Given the description of an element on the screen output the (x, y) to click on. 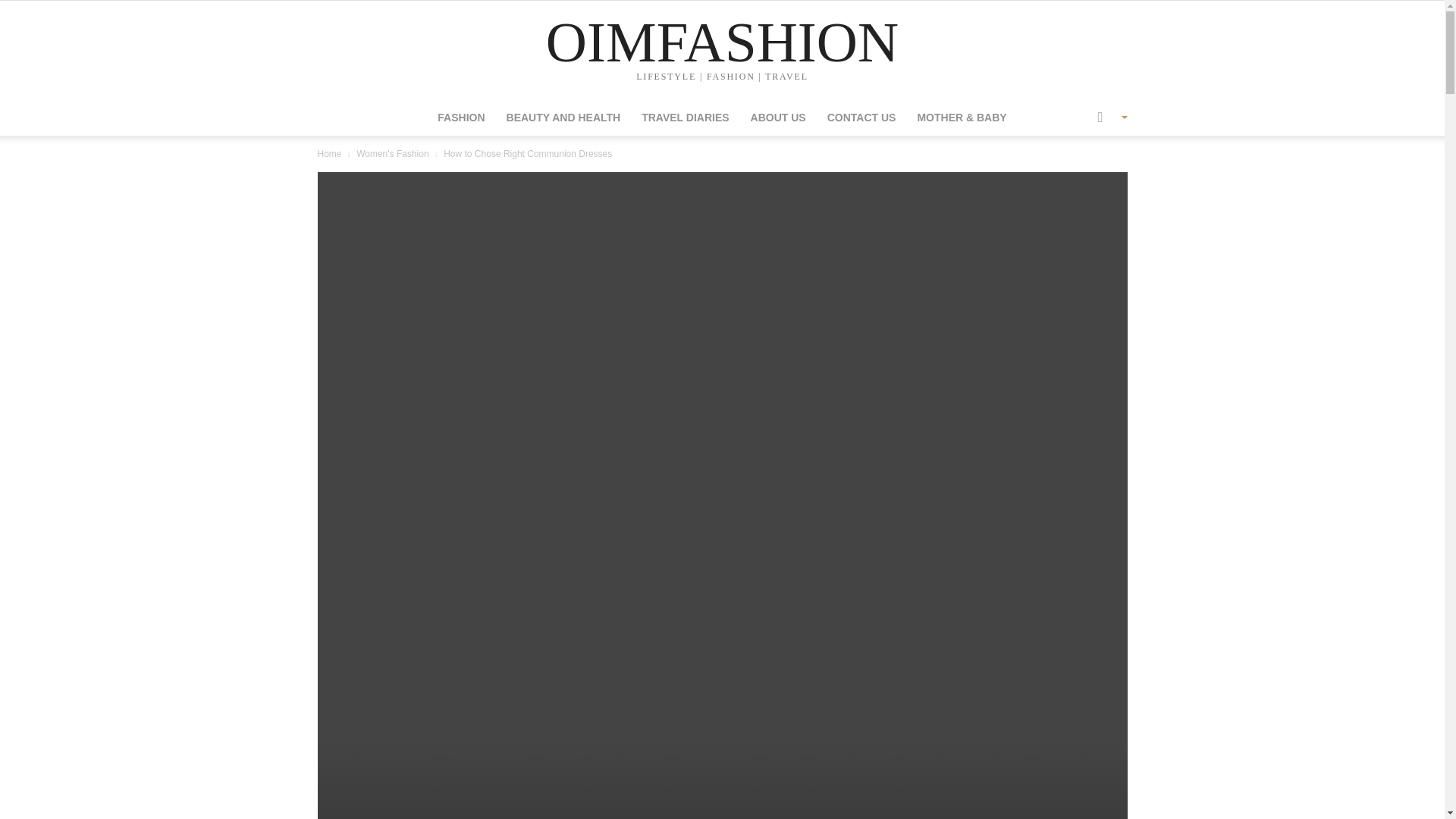
BEAUTY AND HEALTH (563, 117)
FASHION (460, 117)
TRAVEL DIARIES (684, 117)
